Given the description of an element on the screen output the (x, y) to click on. 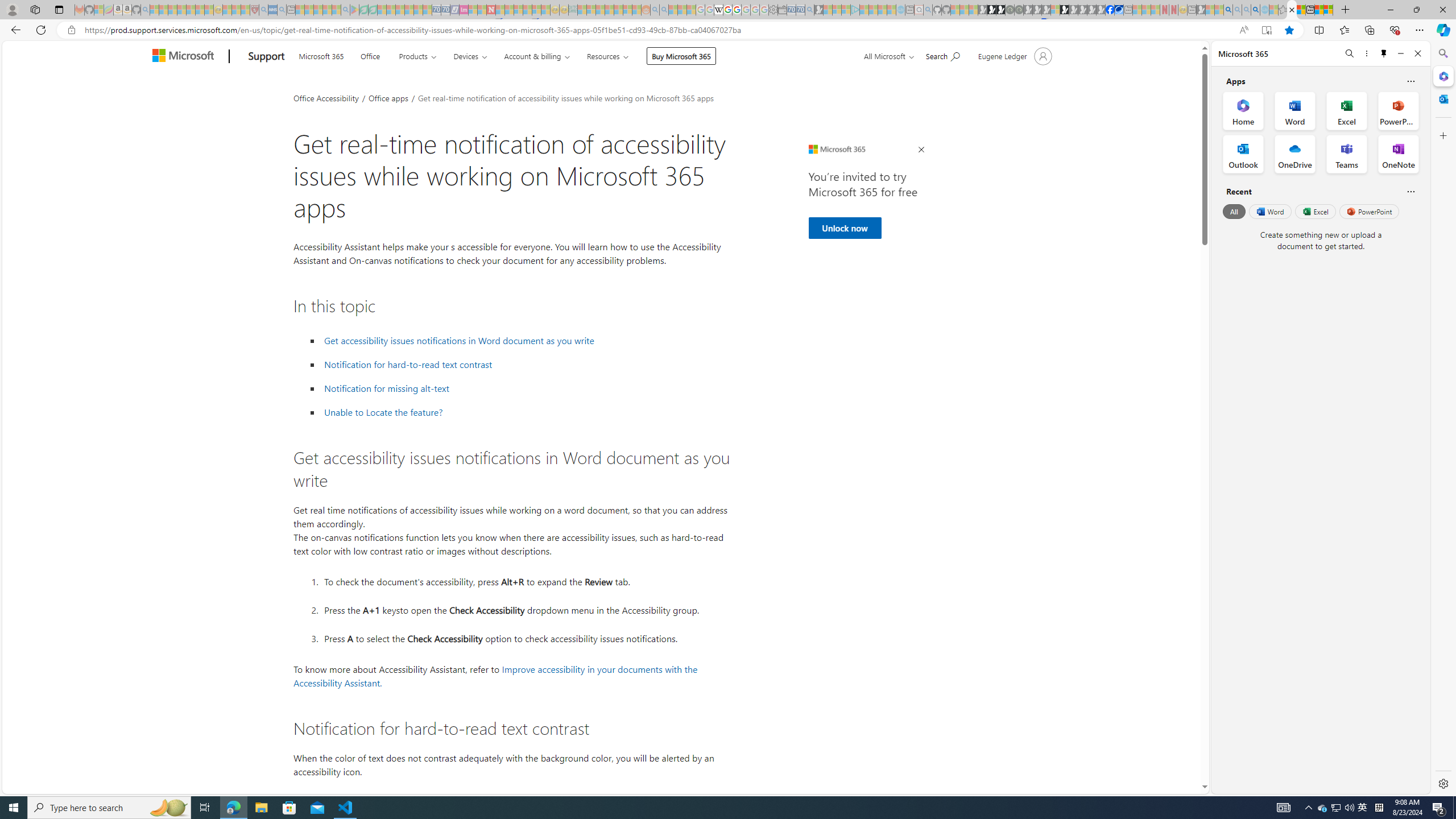
DITOGAMES AG Imprint - Sleeping (572, 9)
Buy Microsoft 365 (681, 55)
Local - MSN - Sleeping (244, 9)
Jobs - lastminute.com Investor Portal - Sleeping (463, 9)
